Given the description of an element on the screen output the (x, y) to click on. 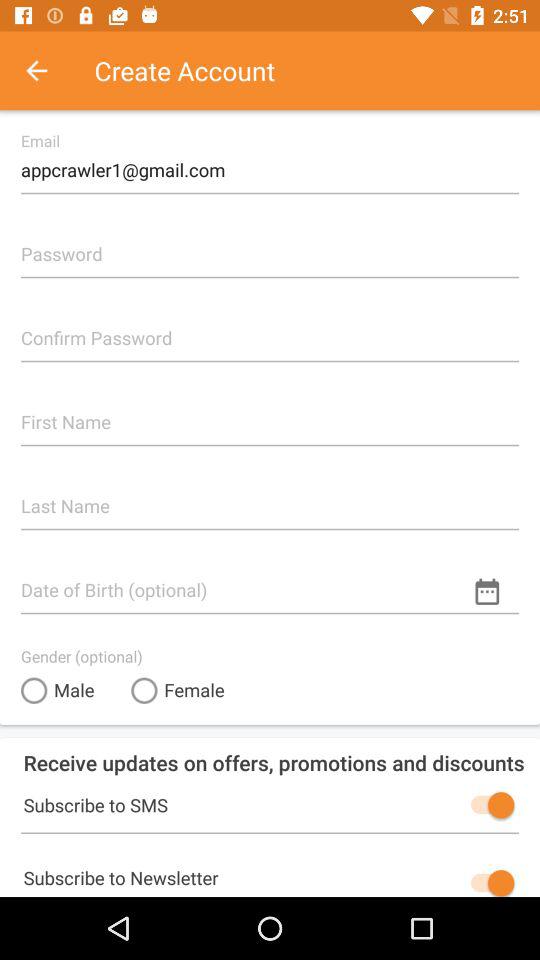
launch the gender (optional) item (81, 656)
